Given the description of an element on the screen output the (x, y) to click on. 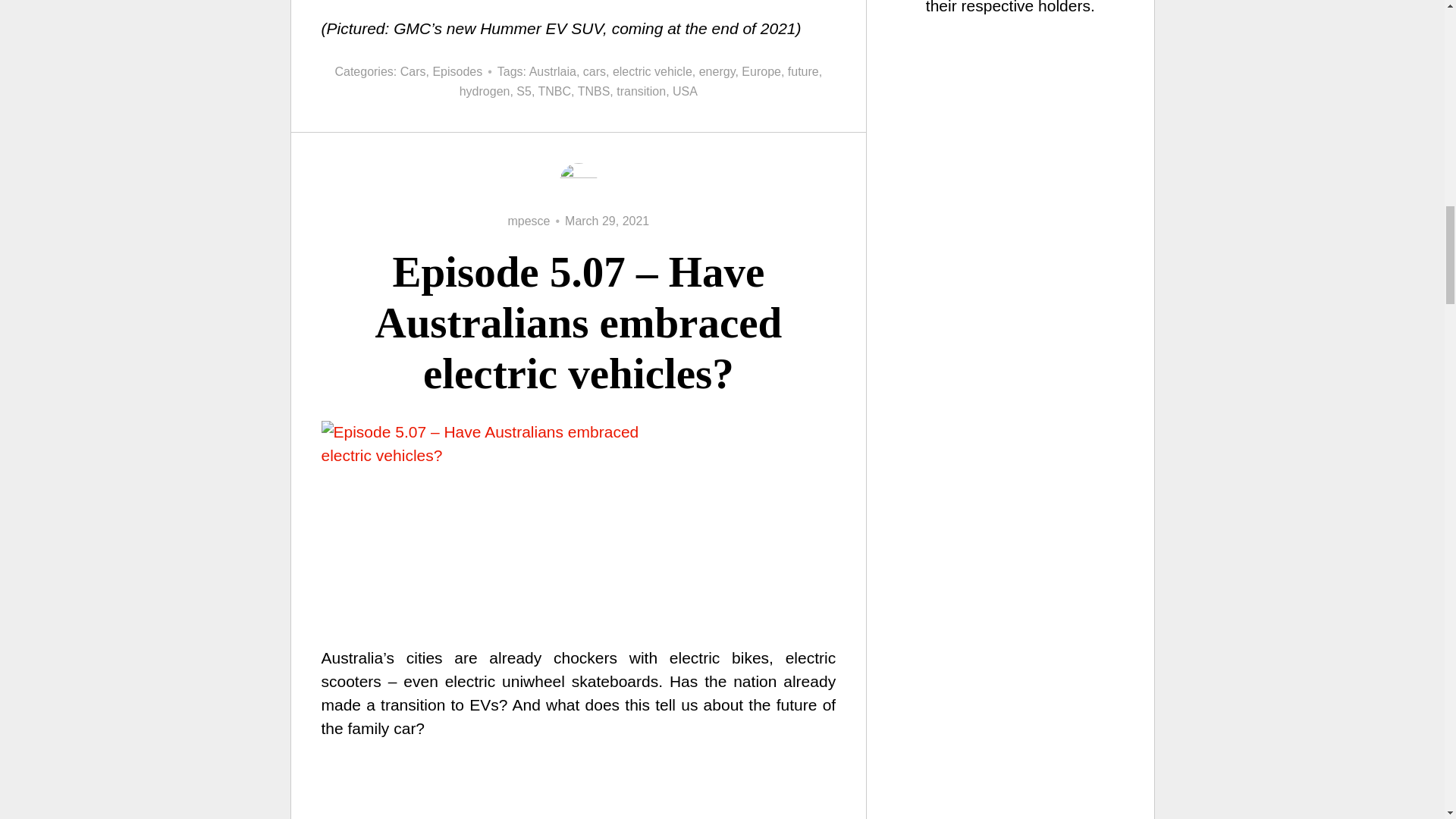
Have Australians embraced electric vehicles? (578, 790)
